Given the description of an element on the screen output the (x, y) to click on. 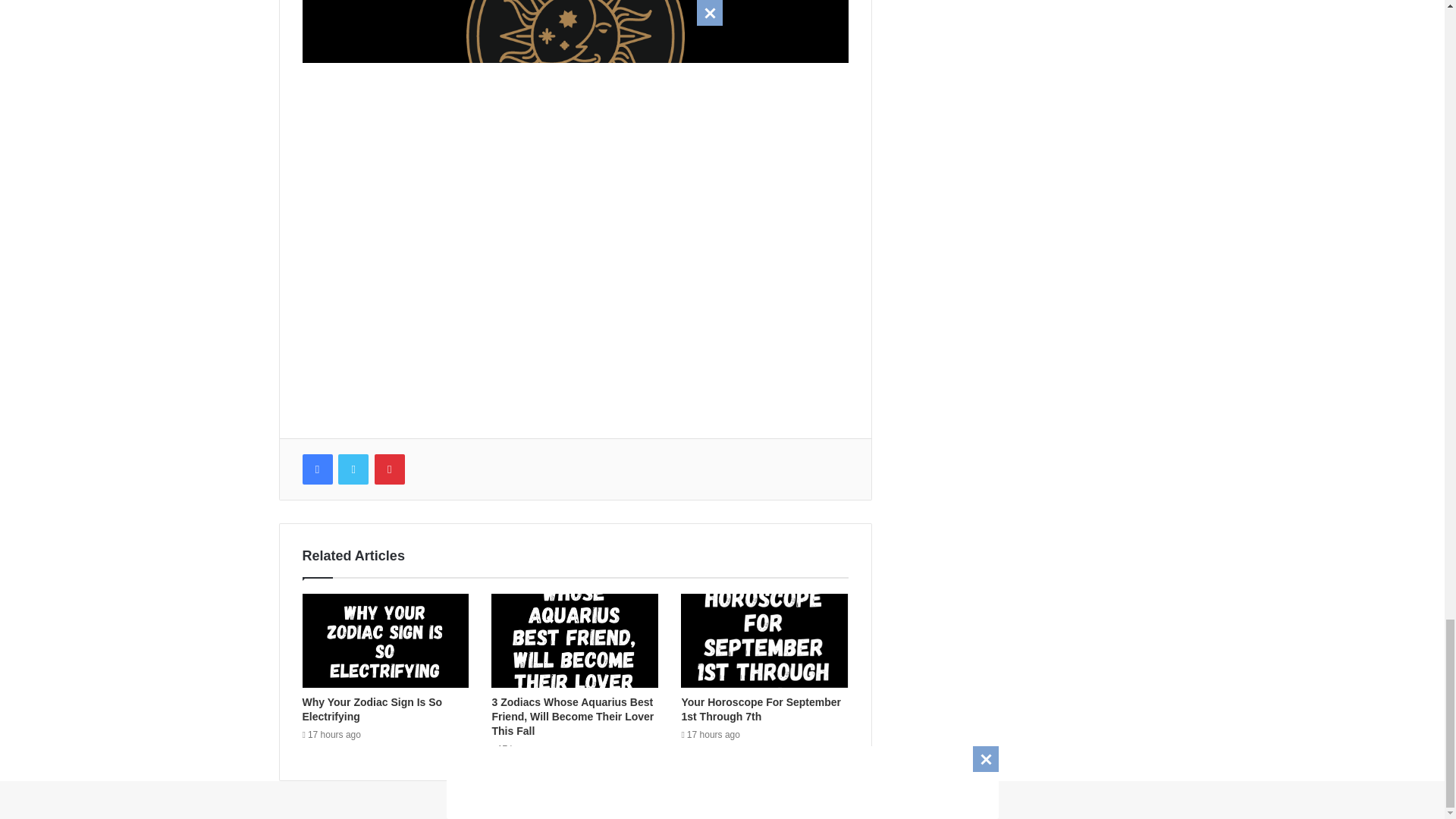
Twitter (352, 469)
Pinterest (389, 469)
Twitter (352, 469)
Why Your Zodiac Sign Is So Electrifying (371, 709)
Facebook (316, 469)
Your Horoscope For September 1st Through 7th (761, 709)
Facebook (316, 469)
